Given the description of an element on the screen output the (x, y) to click on. 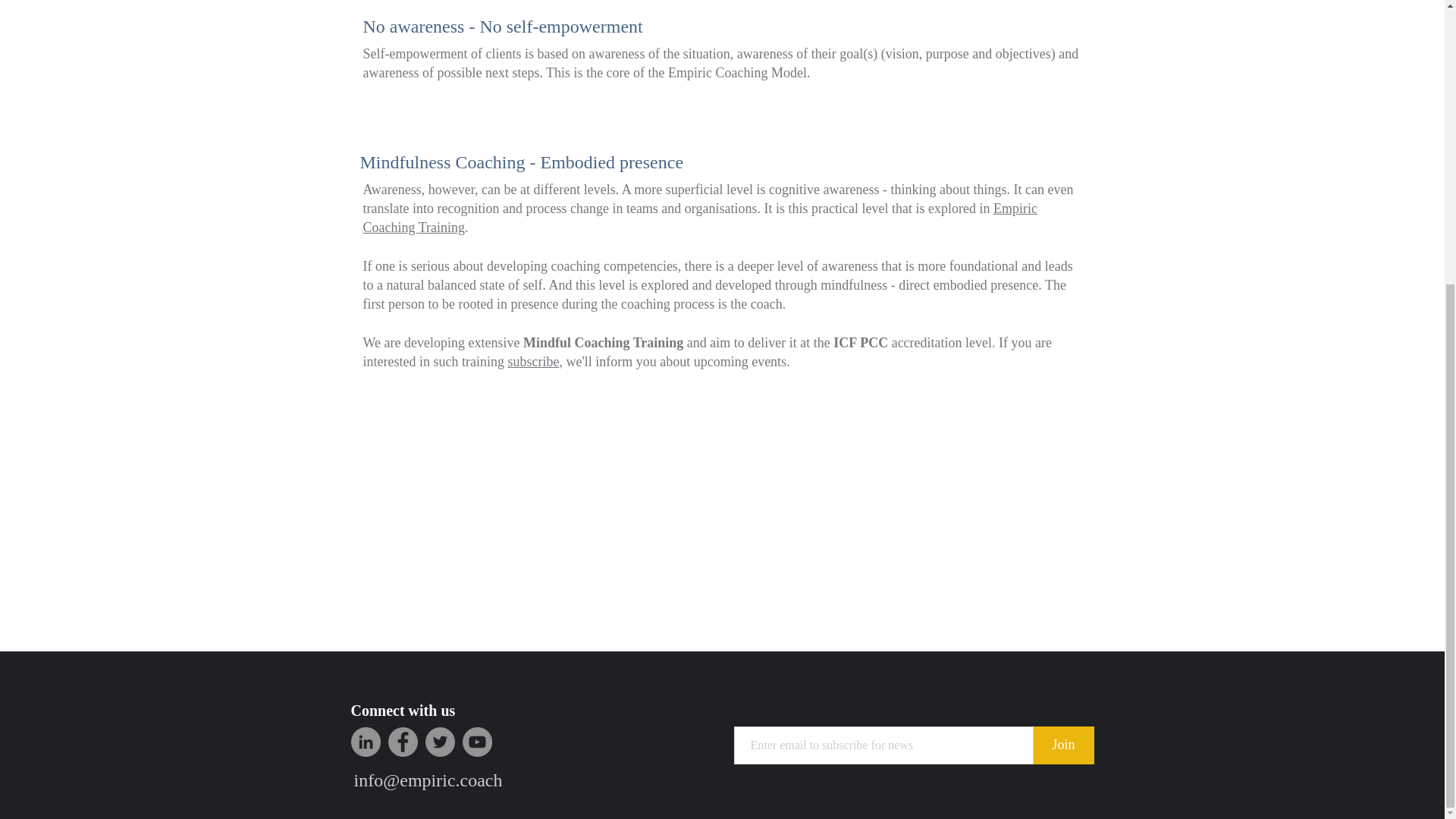
subscribe (532, 361)
Join (1062, 745)
Empiric Coaching Training (699, 217)
